Given the description of an element on the screen output the (x, y) to click on. 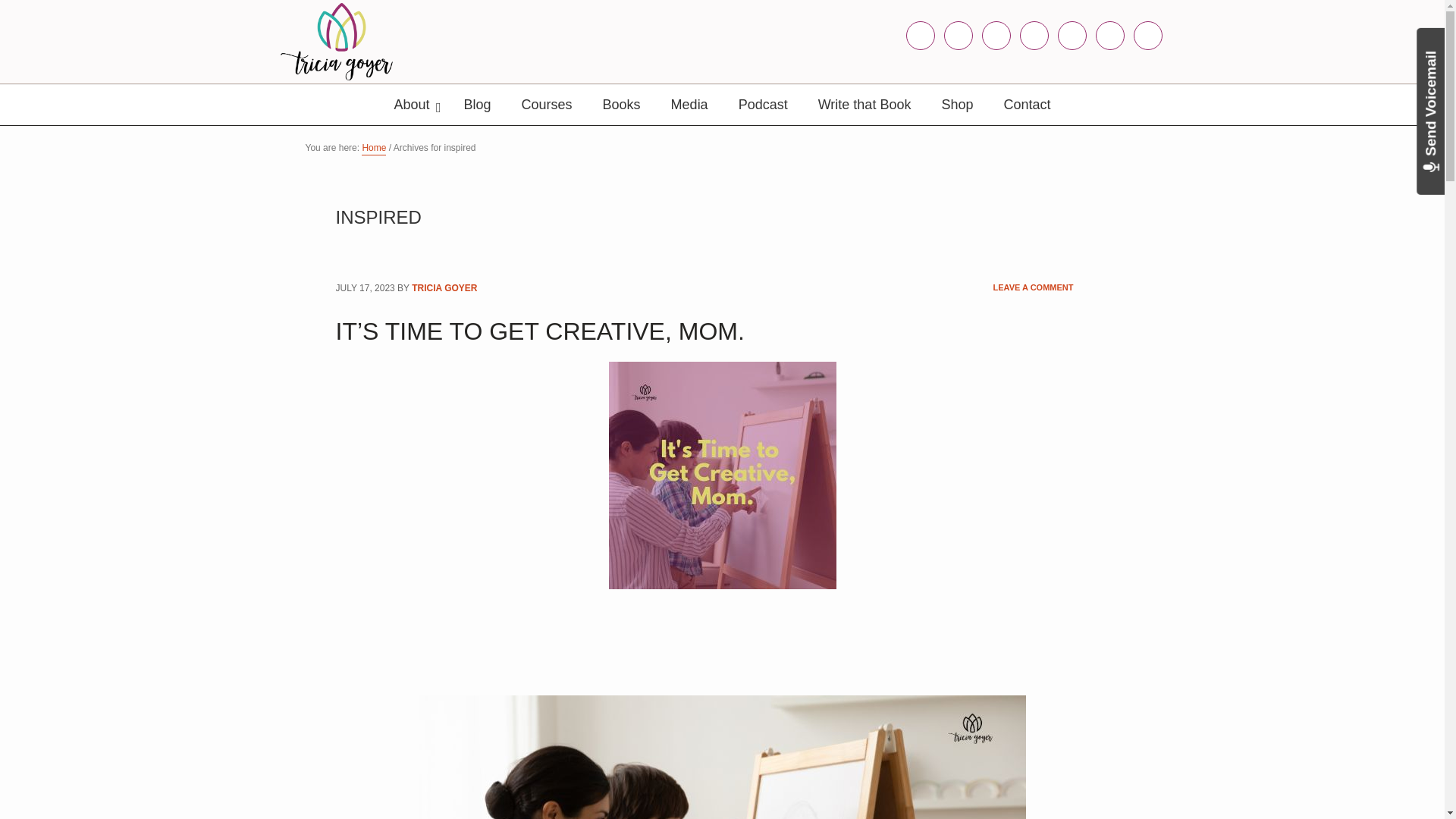
Courses (547, 105)
Shop (957, 105)
Contact (1026, 105)
Media (689, 105)
Blog (477, 105)
Write that Book (864, 105)
About (413, 105)
Home (373, 148)
LEAVE A COMMENT (1033, 288)
TRICIA GOYER (444, 288)
Podcast (763, 105)
Books (622, 105)
